Given the description of an element on the screen output the (x, y) to click on. 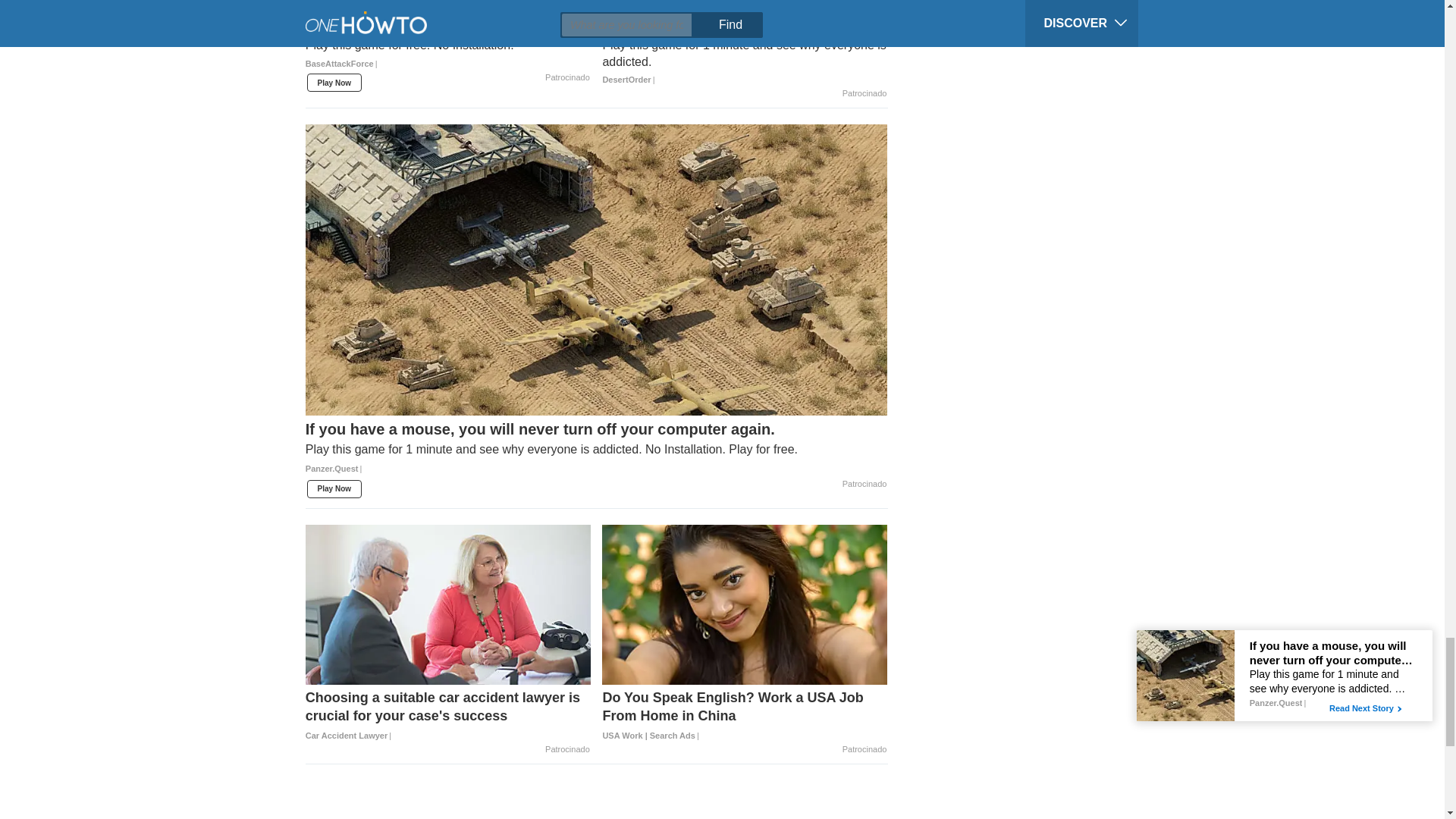
"Description: Play this game for free. No Installation." (448, 45)
